Given the description of an element on the screen output the (x, y) to click on. 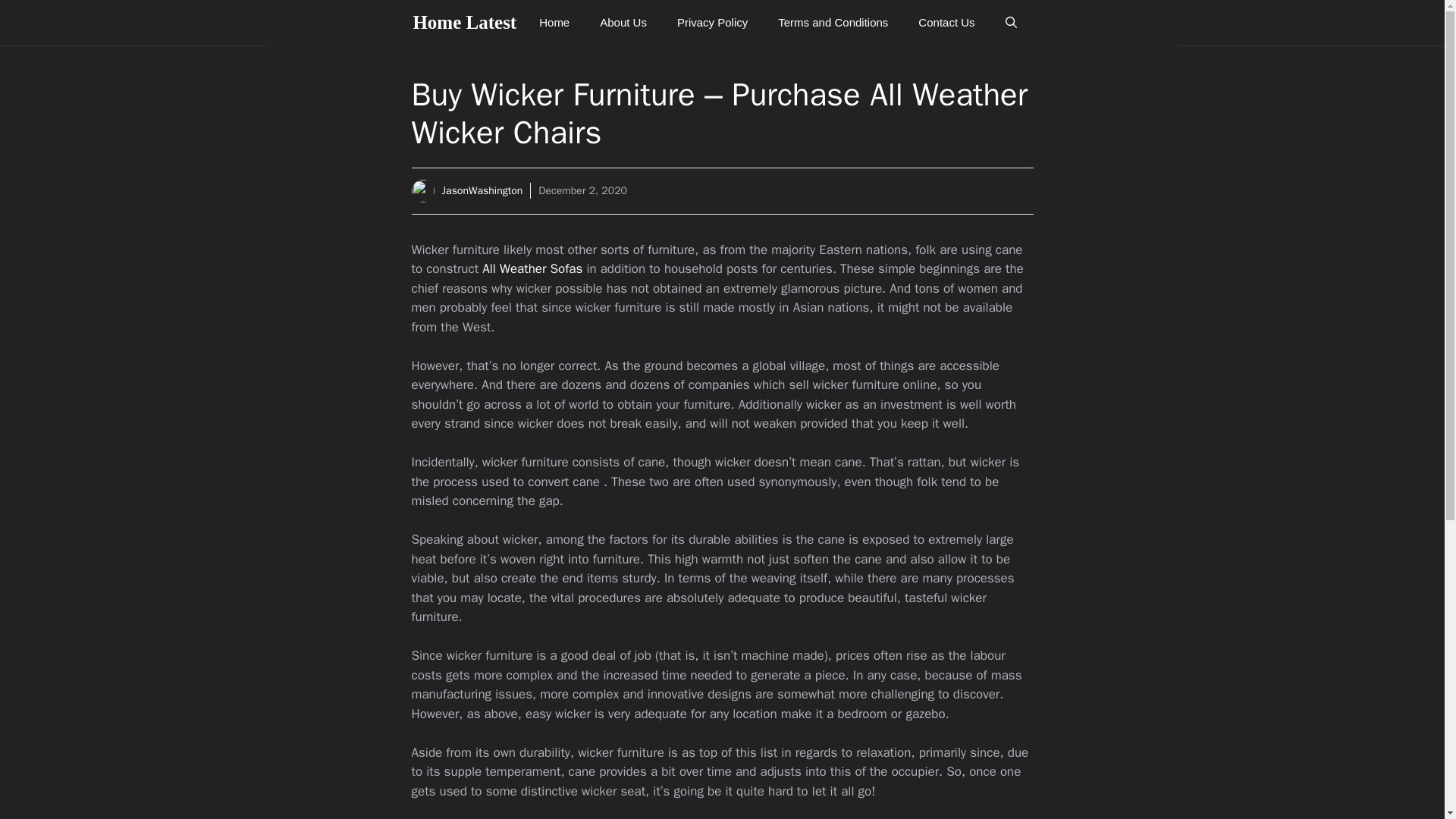
Home Latest (464, 22)
JasonWashington (481, 190)
Terms and Conditions (832, 22)
All Weather Sofas (531, 268)
Home (554, 22)
About Us (623, 22)
Contact Us (946, 22)
Privacy Policy (712, 22)
